Given the description of an element on the screen output the (x, y) to click on. 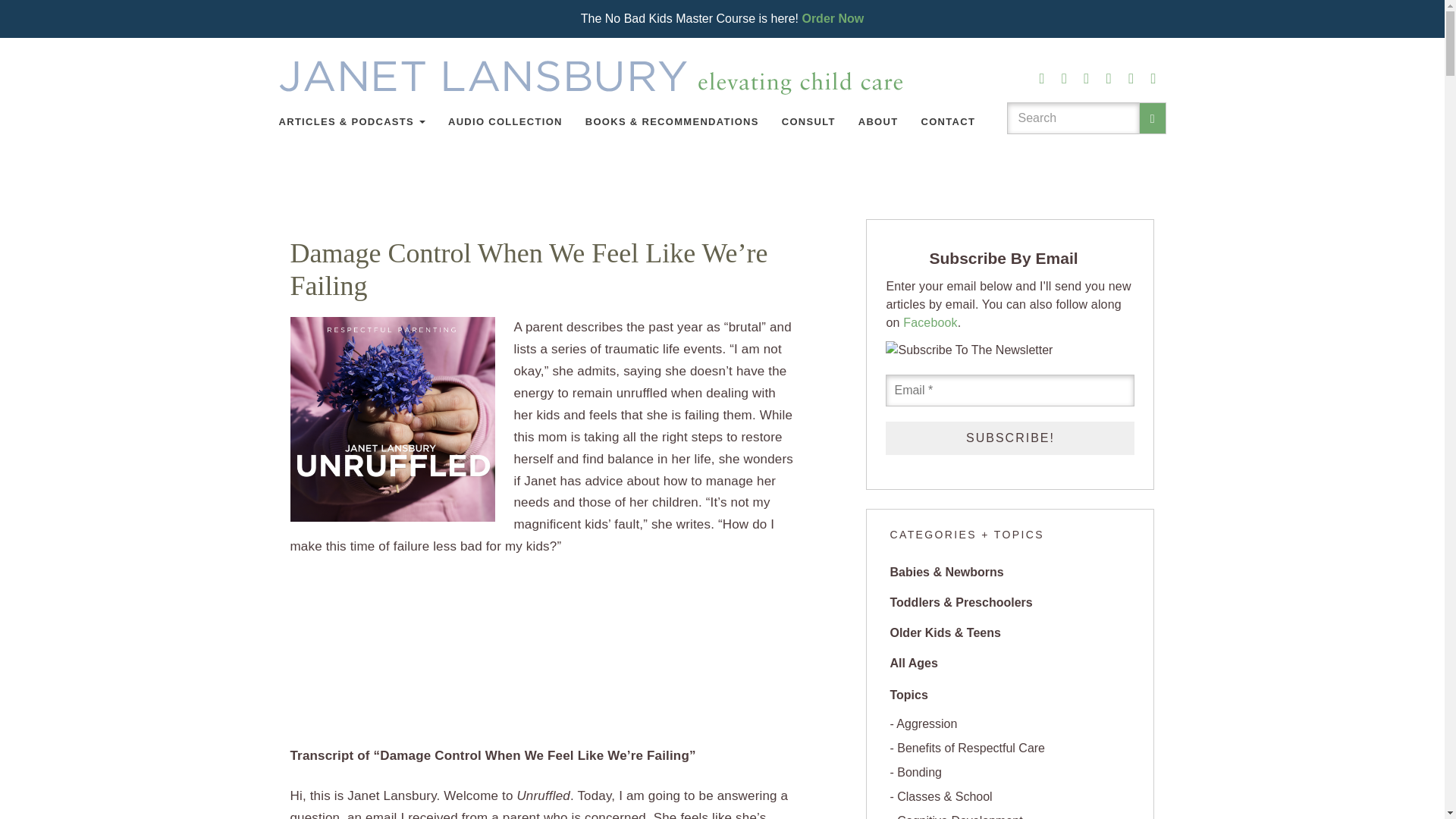
CONTACT (947, 121)
Audio Collection (504, 121)
Consult (808, 121)
AUDIO COLLECTION (504, 121)
Order Now (832, 18)
CONSULT (808, 121)
Contact (947, 121)
About (878, 121)
Subscribe! (1009, 438)
ABOUT (878, 121)
